Given the description of an element on the screen output the (x, y) to click on. 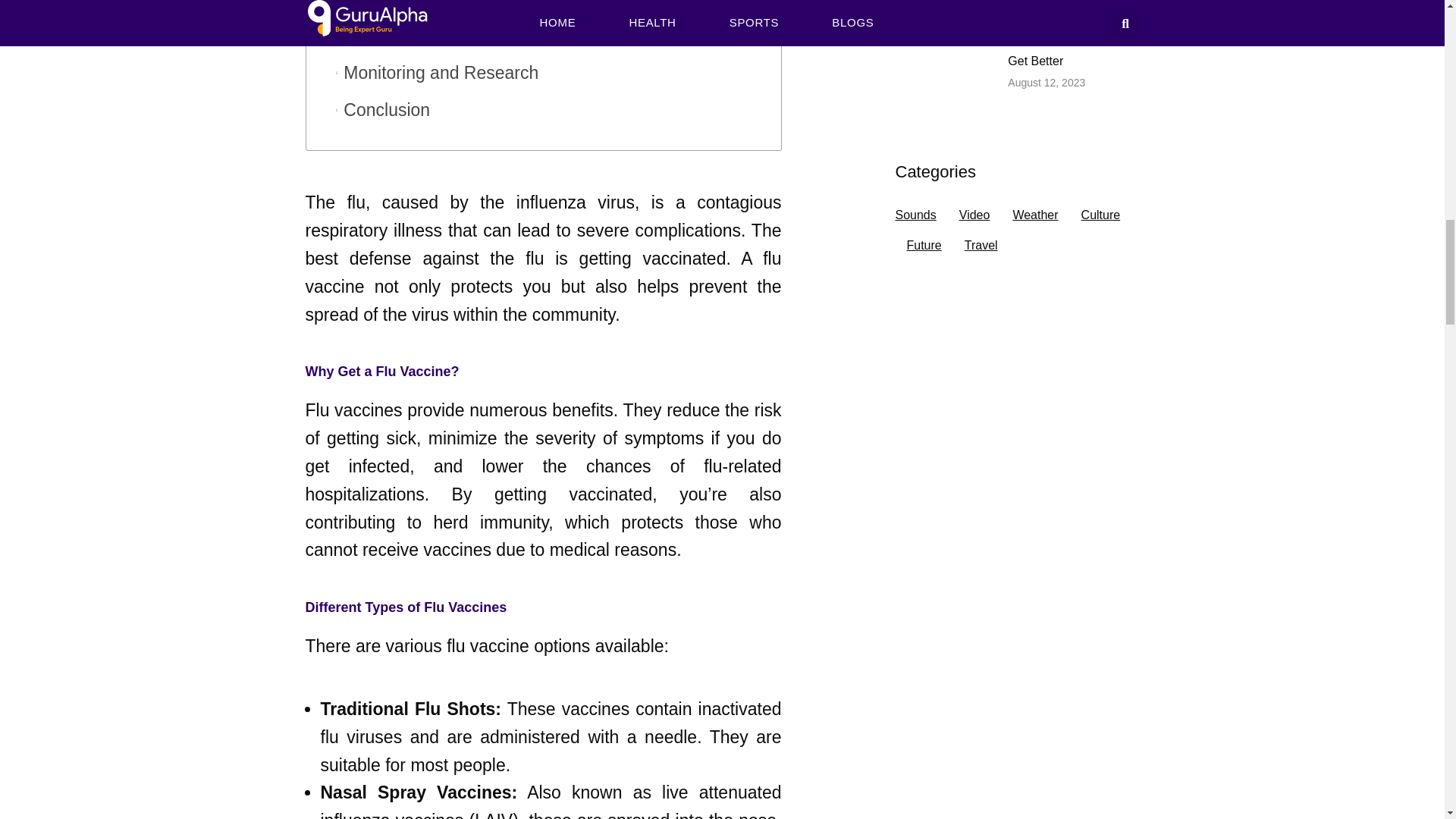
Importance of Community Immunity (480, 36)
Monitoring and Research (440, 72)
Conclusion (386, 110)
Flu Vaccine and COVID-19 (448, 7)
